Given the description of an element on the screen output the (x, y) to click on. 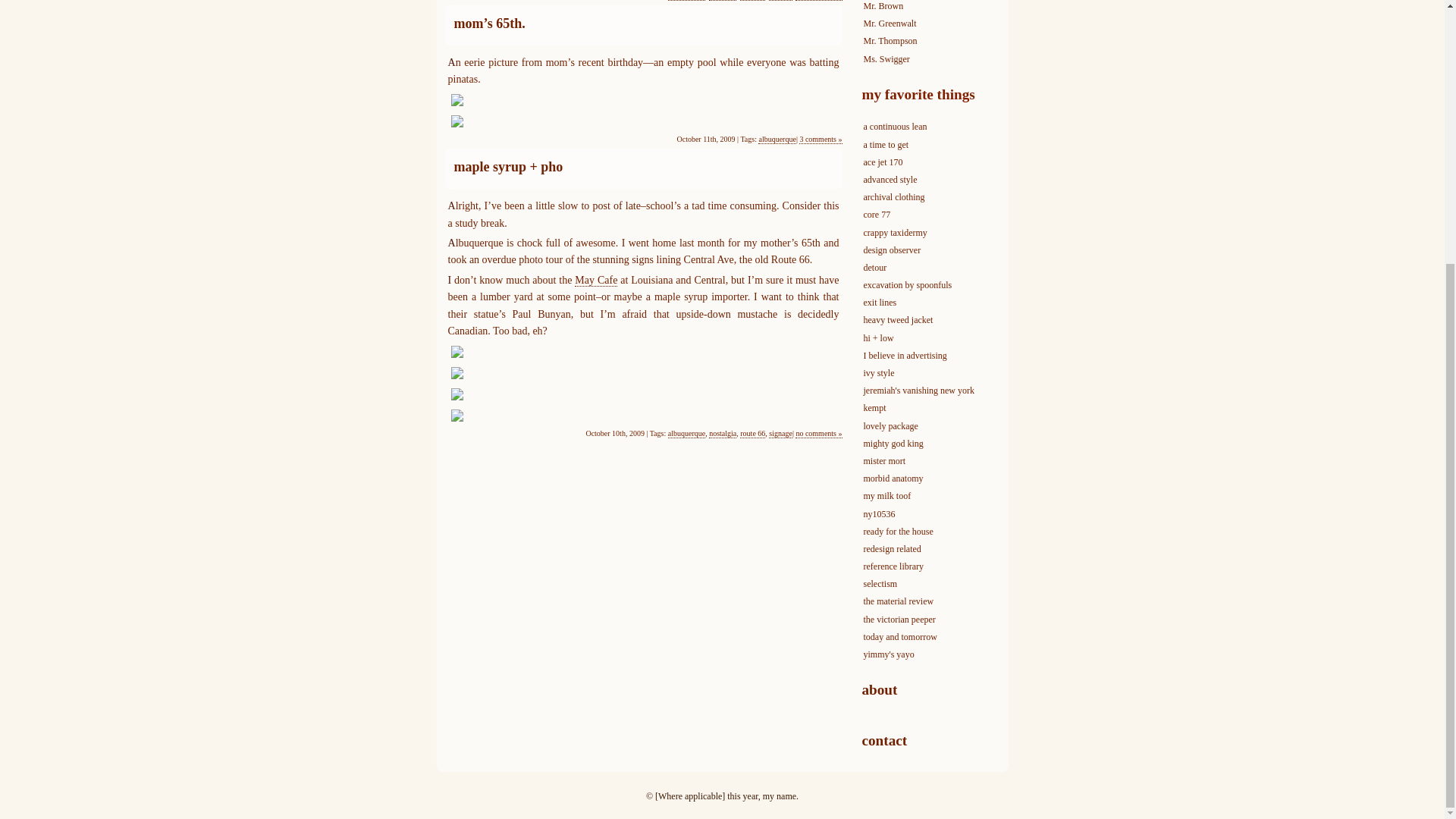
nostalgia (722, 433)
May Cafe (596, 280)
a continuous lean (894, 126)
core 77 (876, 214)
Ms. Swigger (885, 58)
a time to get (885, 144)
Comment on albuquerque is awesome. (817, 0)
advanced style (890, 179)
route 66 (752, 433)
Mr. Brown (882, 5)
albuquerque (686, 433)
archival clothing (893, 196)
signage (780, 433)
